Given the description of an element on the screen output the (x, y) to click on. 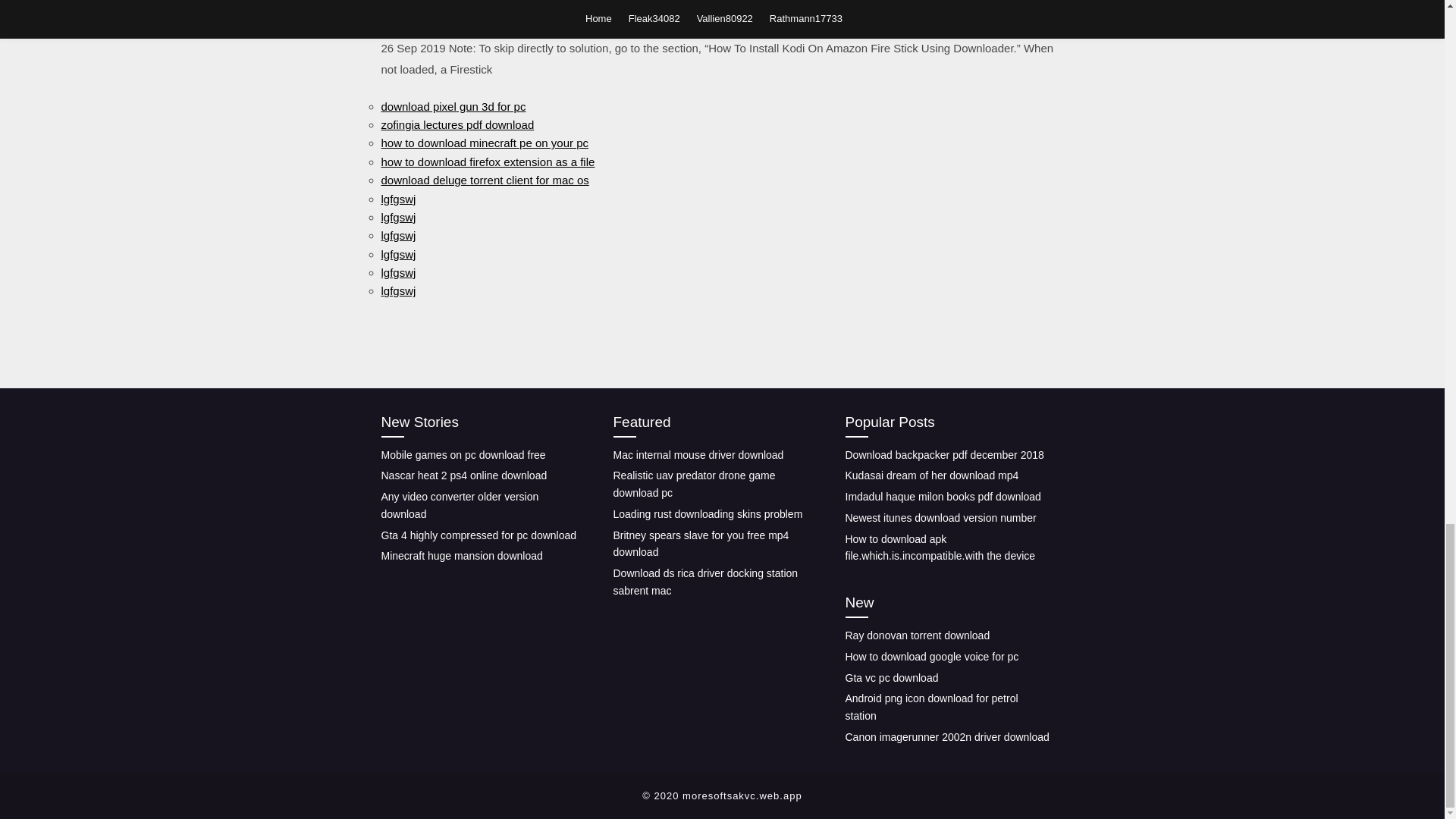
How to download google voice for pc (930, 656)
download deluge torrent client for mac os (484, 179)
lgfgswj (397, 235)
Loading rust downloading skins problem (707, 513)
Download backpacker pdf december 2018 (943, 454)
lgfgswj (397, 216)
Newest itunes download version number (939, 517)
Imdadul haque milon books pdf download (942, 496)
download pixel gun 3d for pc (452, 106)
lgfgswj (397, 290)
Nascar heat 2 ps4 online download (463, 475)
lgfgswj (397, 272)
Download ds rica driver docking station sabrent mac (704, 582)
lgfgswj (397, 254)
